Given the description of an element on the screen output the (x, y) to click on. 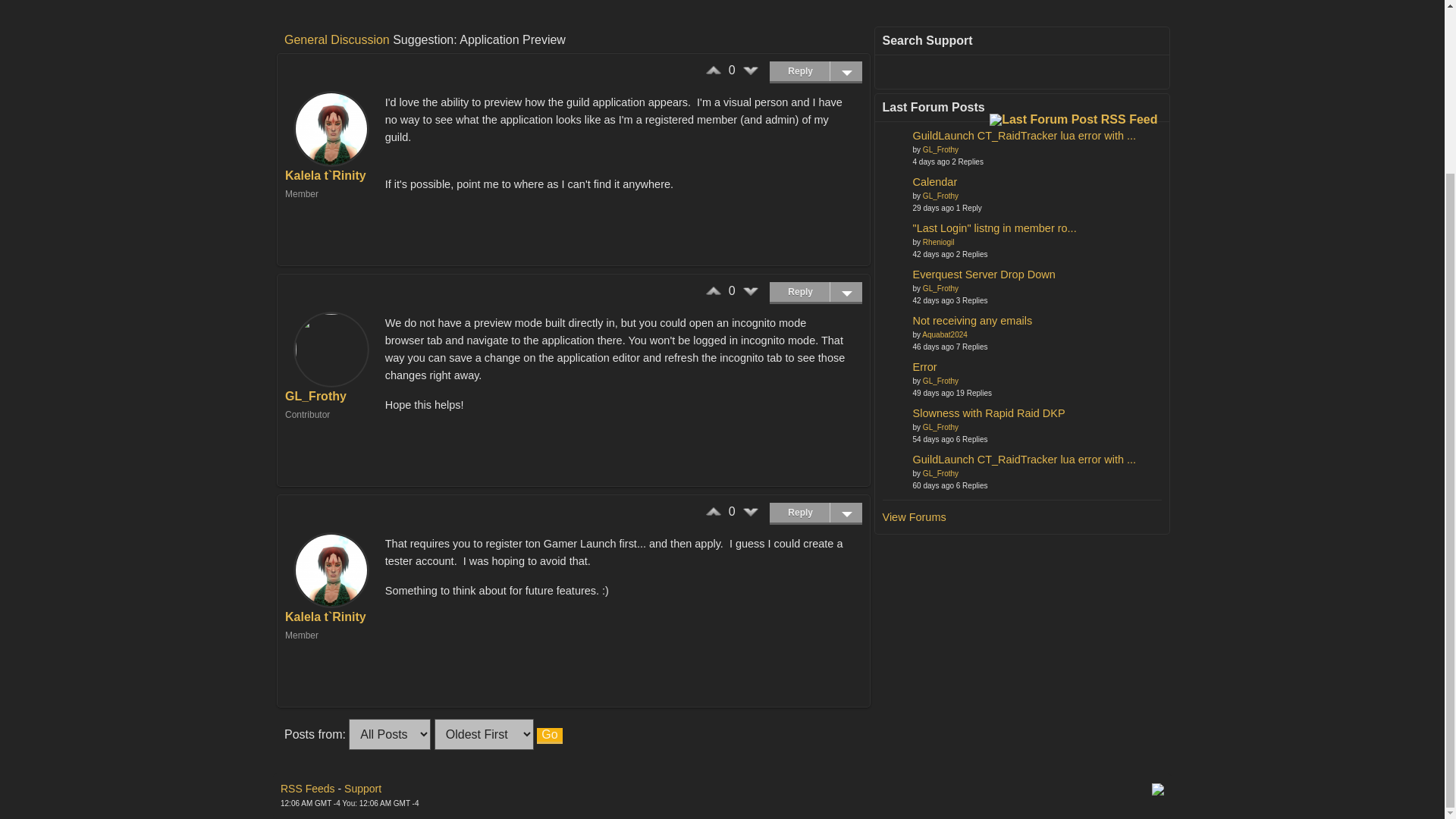
Go To Last Unread Post (983, 274)
Down Vote (750, 70)
Up Vote (713, 70)
Up Vote (713, 290)
Go (549, 735)
Rheniogil (893, 230)
Aquabat2024 (893, 322)
Reply (815, 511)
Go (549, 735)
Go To Last Unread Post (994, 227)
Reply (815, 70)
Reply (815, 291)
Down Vote (750, 290)
Go To Last Unread Post (1024, 134)
General Discussion (336, 39)
